Given the description of an element on the screen output the (x, y) to click on. 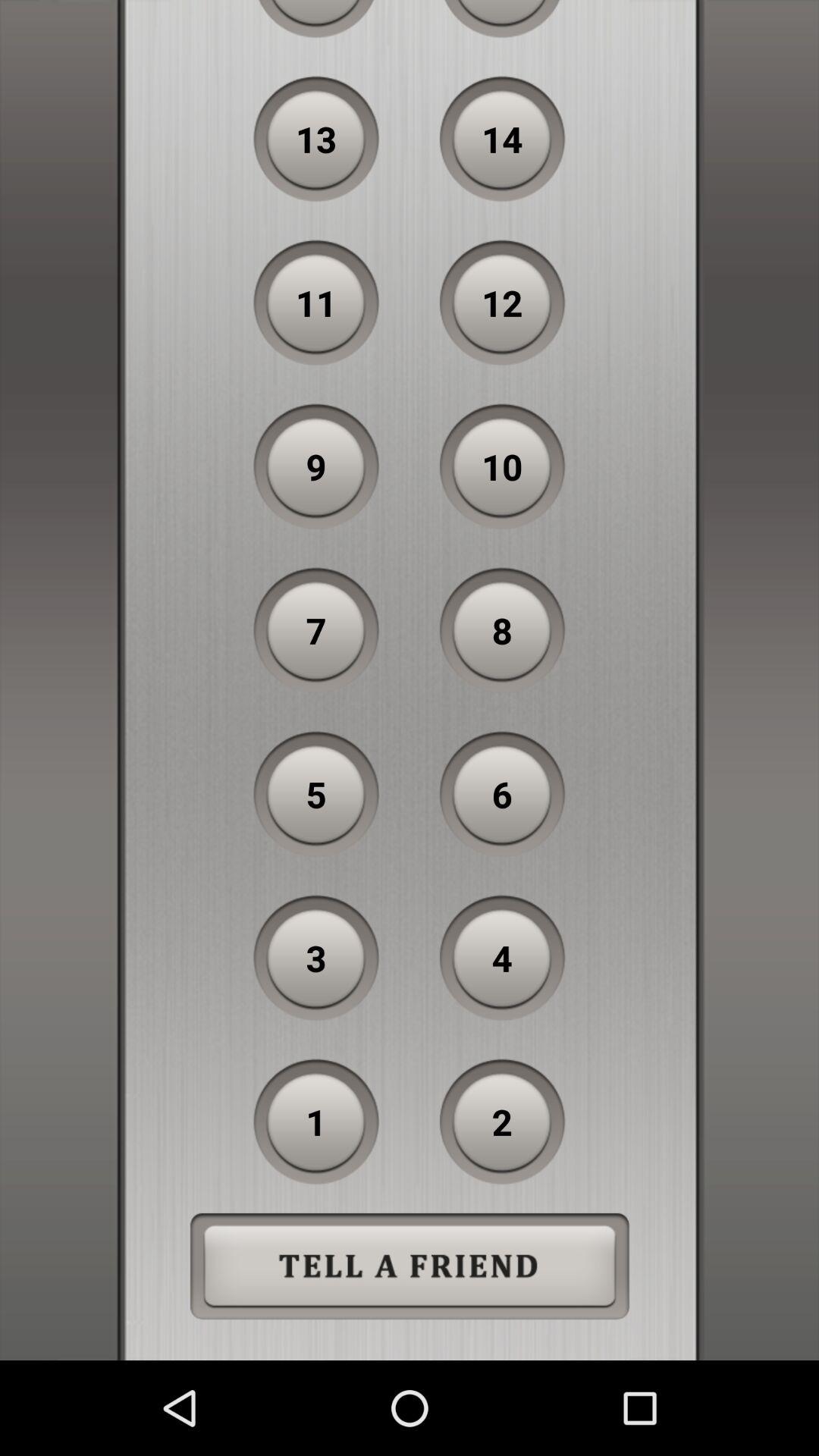
turn off icon to the right of the 15 (502, 19)
